Given the description of an element on the screen output the (x, y) to click on. 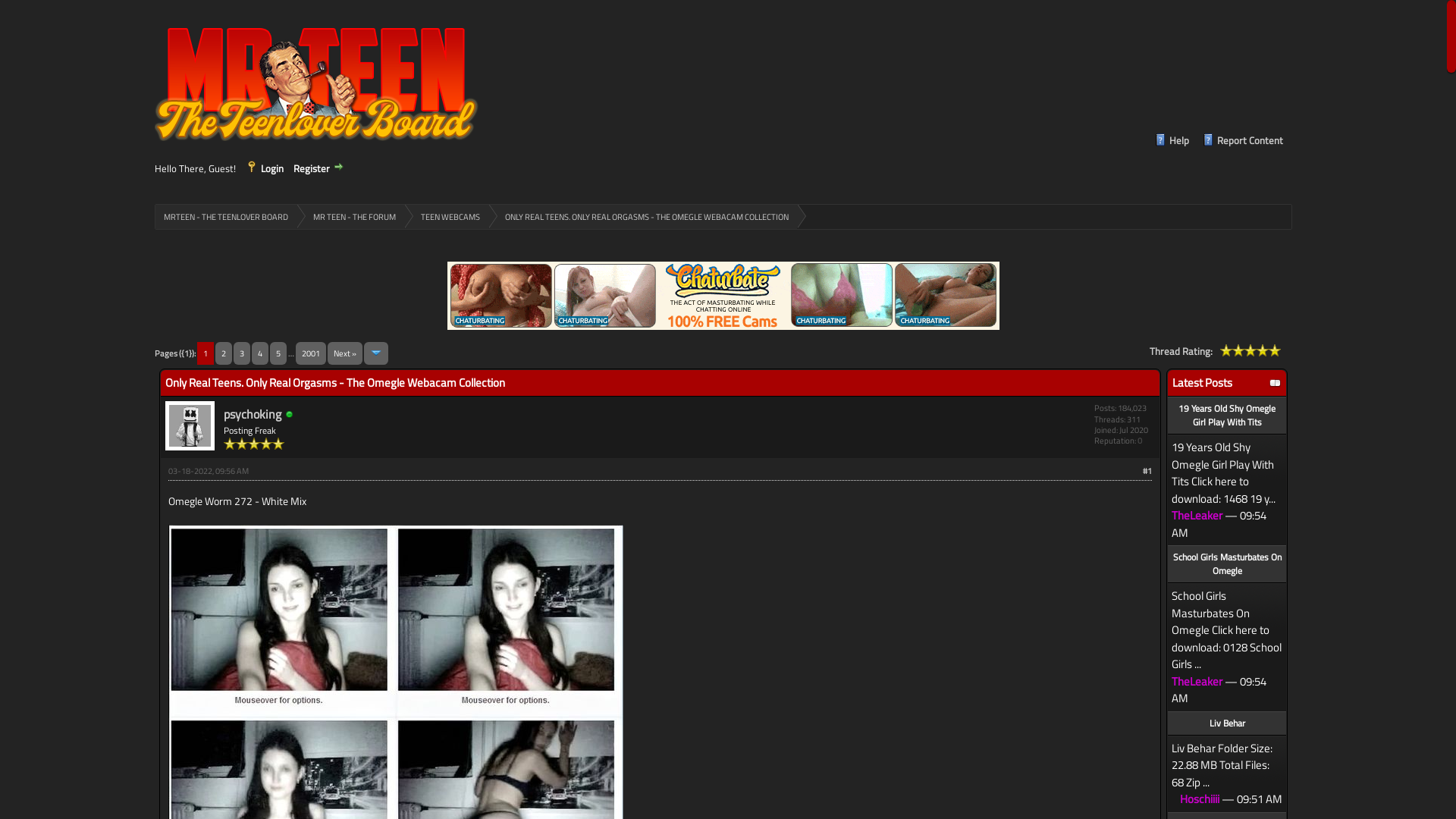
Liv Behar Element type: text (1226, 722)
Hoschiiii Element type: text (1199, 798)
3 Element type: text (241, 353)
Online Element type: hover (289, 414)
TheLeaker Element type: text (1196, 515)
4 Element type: text (1244, 350)
2 Element type: text (223, 353)
Register Element type: text (319, 167)
MrTeen - The Teenlover Board Element type: hover (320, 81)
School Girls Masturbates On Omegle Element type: text (1226, 563)
psychoking Element type: text (252, 413)
Report Content Element type: text (1242, 140)
Help Element type: text (1171, 140)
2 Element type: text (1232, 350)
TheLeaker Element type: text (1196, 681)
Jump to page Element type: hover (376, 353)
1 Element type: text (1226, 350)
4 Element type: text (259, 353)
0 Element type: text (1139, 440)
Login Element type: text (264, 167)
5 Element type: text (1250, 350)
19 Years Old Shy Omegle Girl Play With Tits Element type: text (1226, 415)
TEEN WEBCAMS Element type: text (446, 216)
MRTEEN - THE TEENLOVER BOARD Element type: text (225, 216)
3 Element type: text (1238, 350)
2001 Element type: text (310, 353)
MR TEEN - THE FORUM Element type: text (350, 216)
[-] Element type: hover (1275, 382)
#1 Element type: text (1146, 470)
5 Element type: text (277, 353)
